Given the description of an element on the screen output the (x, y) to click on. 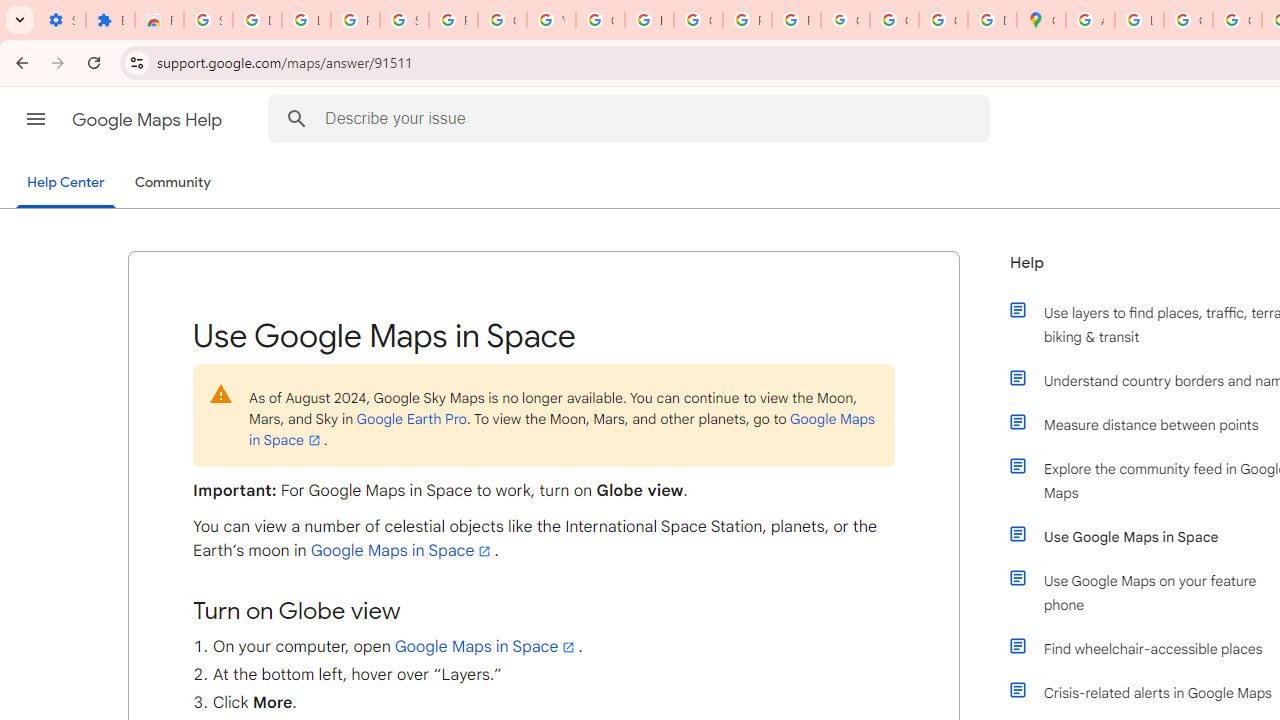
Reviews: Helix Fruit Jump Arcade Game (159, 20)
Describe your issue (632, 118)
Sign in - Google Accounts (404, 20)
Google Maps Help (148, 119)
Delete photos & videos - Computer - Google Photos Help (257, 20)
Create your Google Account (1188, 20)
Settings - On startup (61, 20)
